Given the description of an element on the screen output the (x, y) to click on. 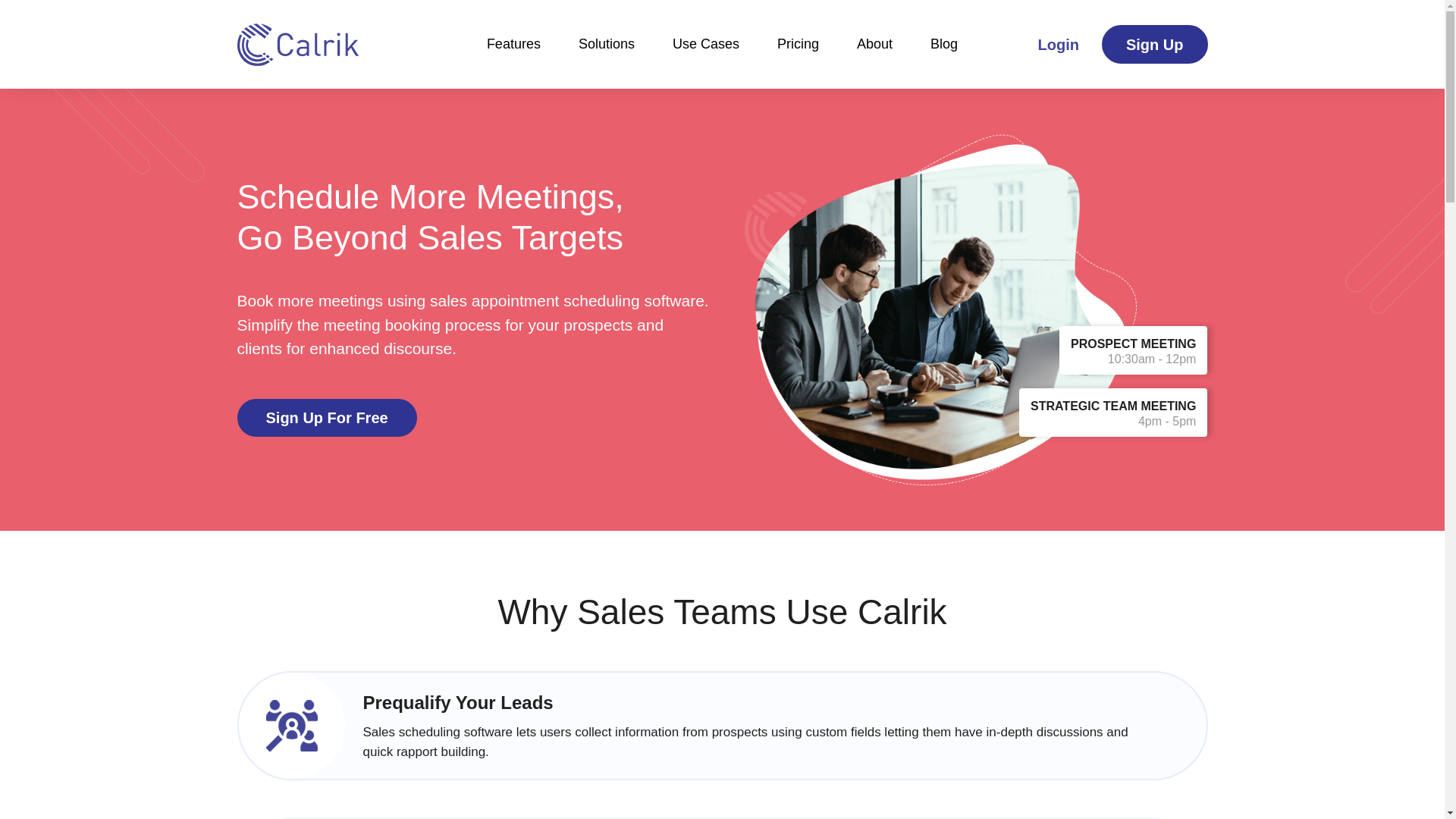
Solutions (606, 57)
Login (1133, 399)
Use Cases (1058, 44)
Sign Up (706, 57)
Sign Up For Free (1155, 44)
Pricing (325, 417)
Features (797, 57)
About (513, 57)
